Given the description of an element on the screen output the (x, y) to click on. 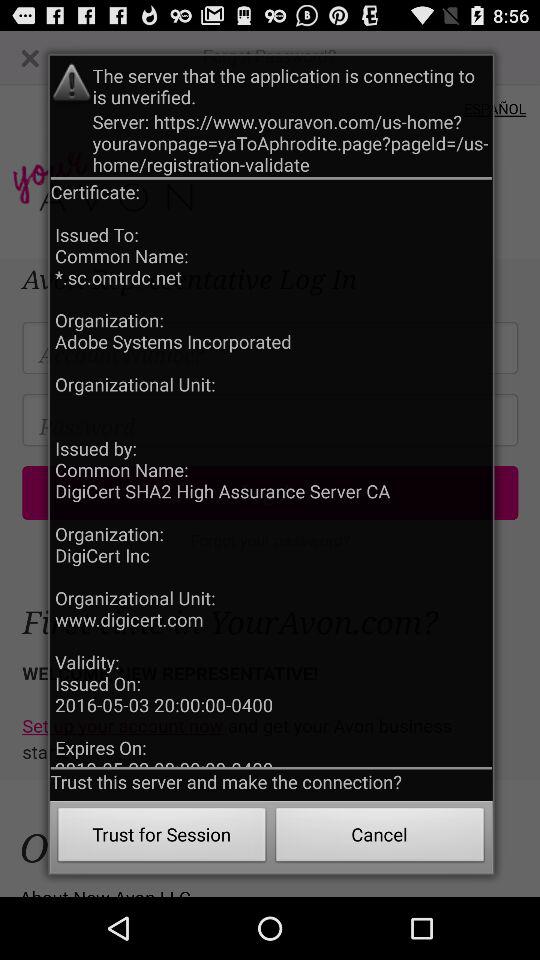
launch the button next to cancel button (162, 837)
